Given the description of an element on the screen output the (x, y) to click on. 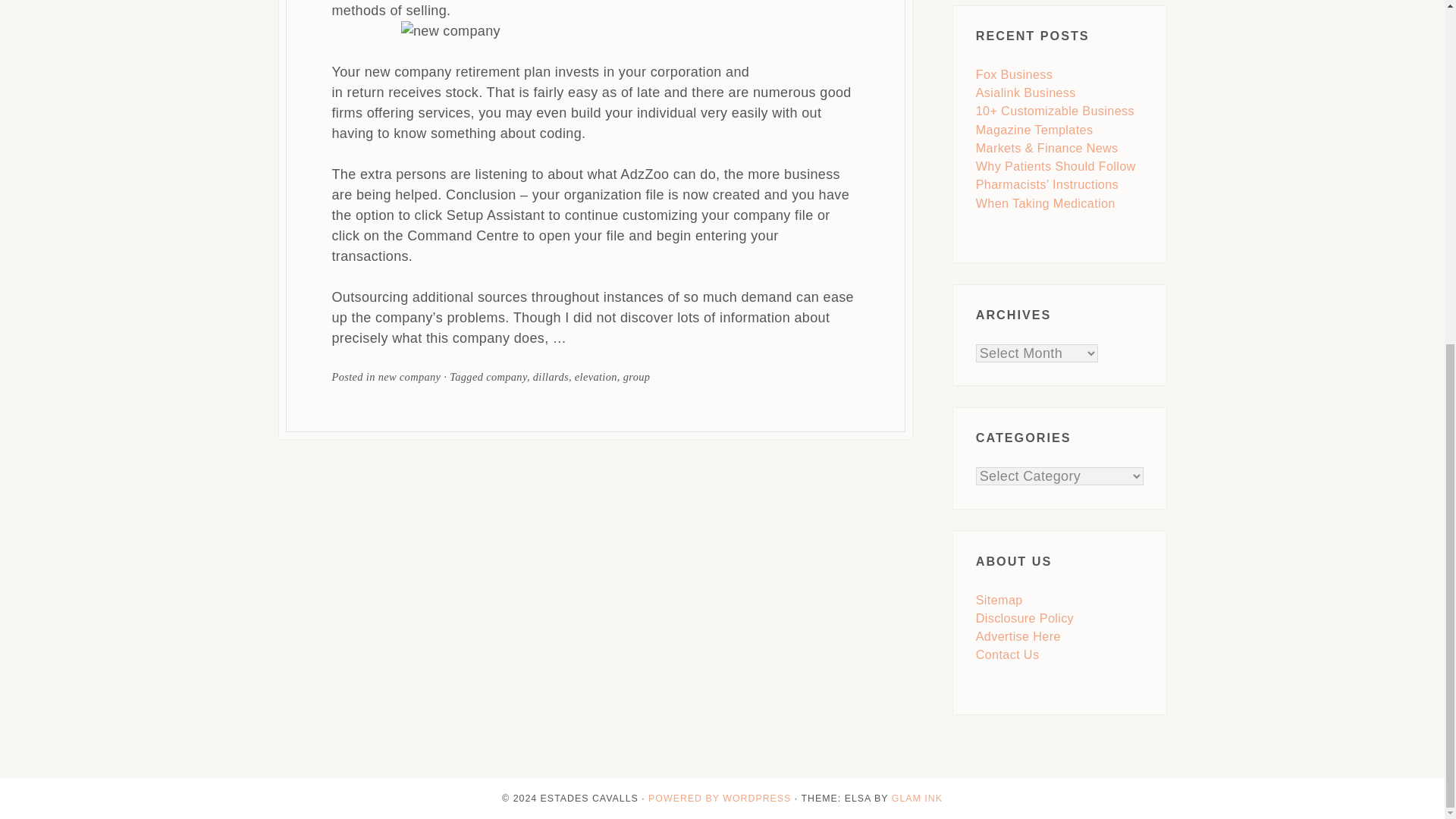
dillards (550, 377)
group (636, 377)
company (506, 377)
new company (409, 377)
elevation (596, 377)
